Given the description of an element on the screen output the (x, y) to click on. 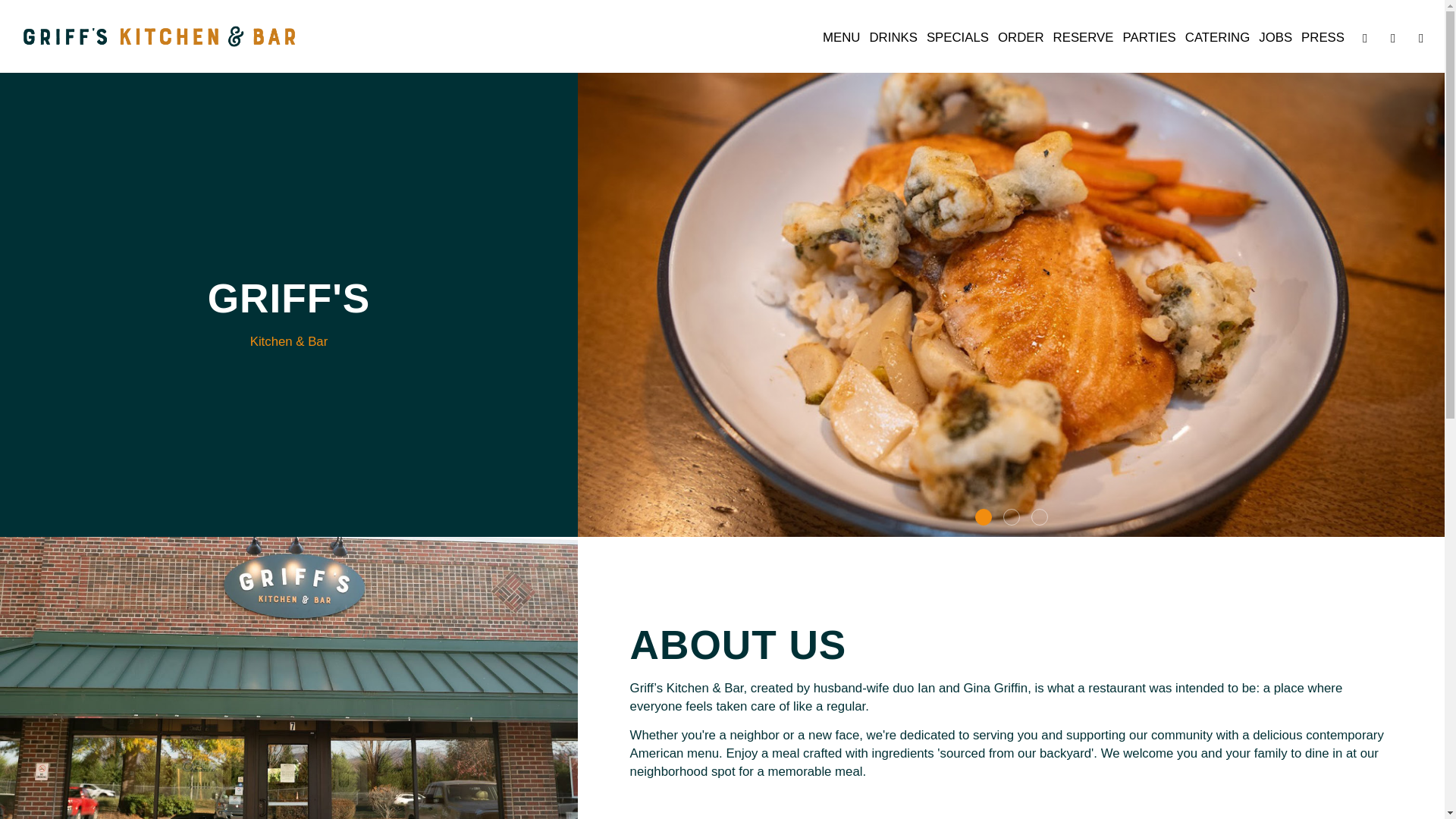
RESERVE (1083, 37)
SPECIALS (956, 37)
CATERING (1216, 37)
PRESS (1323, 37)
JOBS (1275, 37)
ORDER (1020, 37)
MENU (841, 37)
PARTIES (1149, 37)
DRINKS (892, 37)
